Given the description of an element on the screen output the (x, y) to click on. 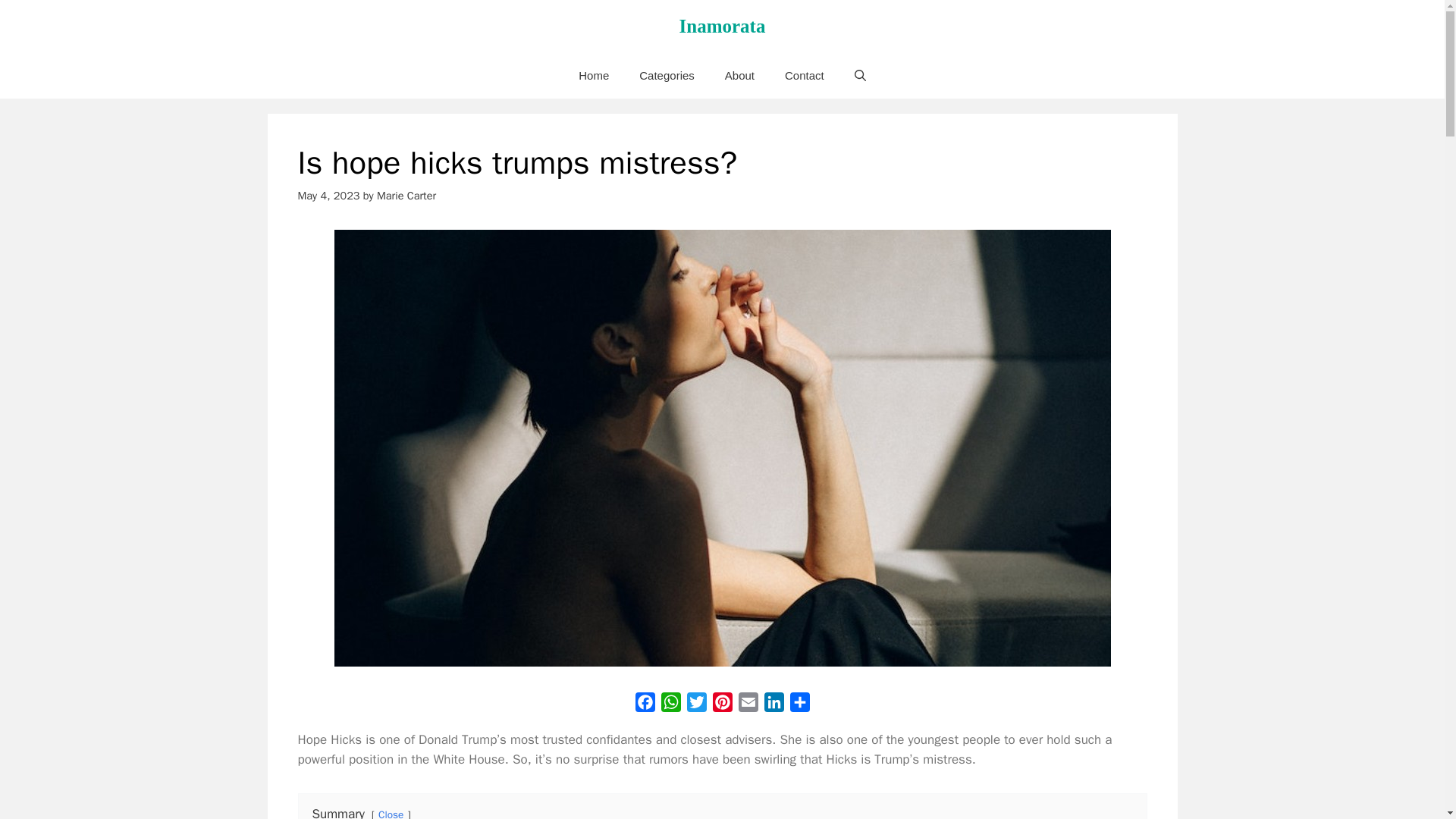
Pinterest (722, 705)
LinkedIn (774, 705)
Categories (667, 75)
Contact (805, 75)
Facebook (644, 705)
Home (593, 75)
Twitter (697, 705)
Email (748, 705)
Inamorata (722, 25)
